Given the description of an element on the screen output the (x, y) to click on. 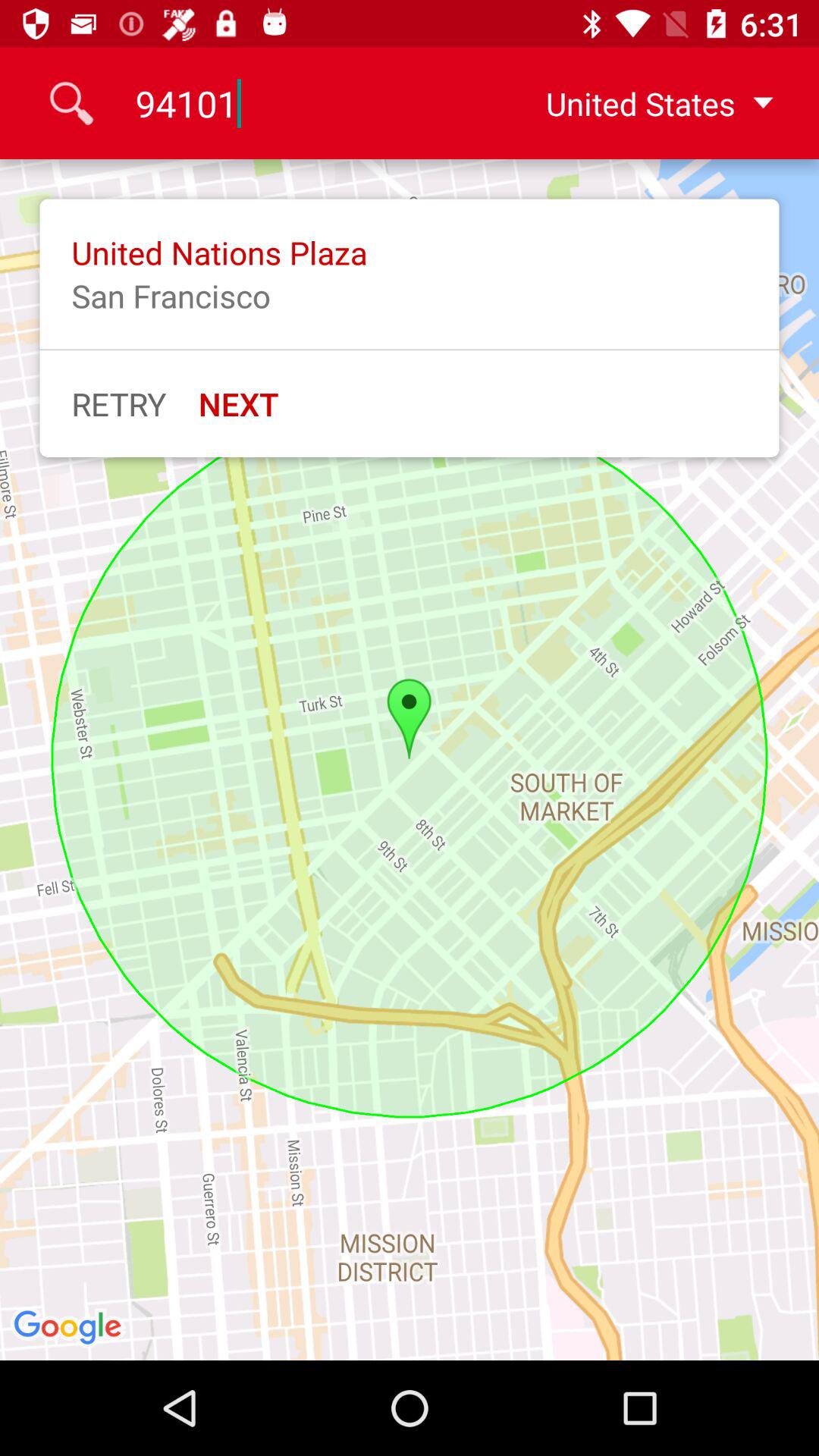
jump to next item (238, 403)
